Given the description of an element on the screen output the (x, y) to click on. 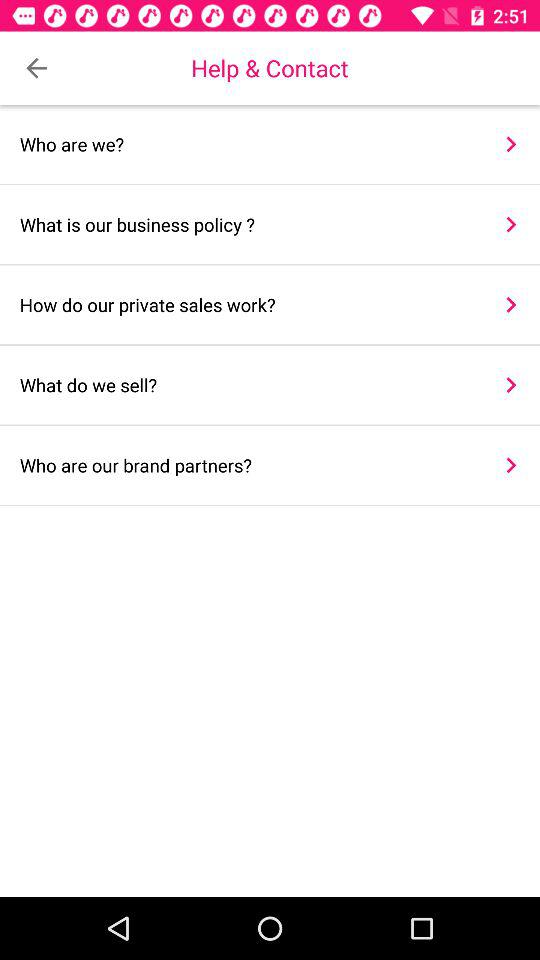
turn off the item to the left of help & contact (36, 68)
